Given the description of an element on the screen output the (x, y) to click on. 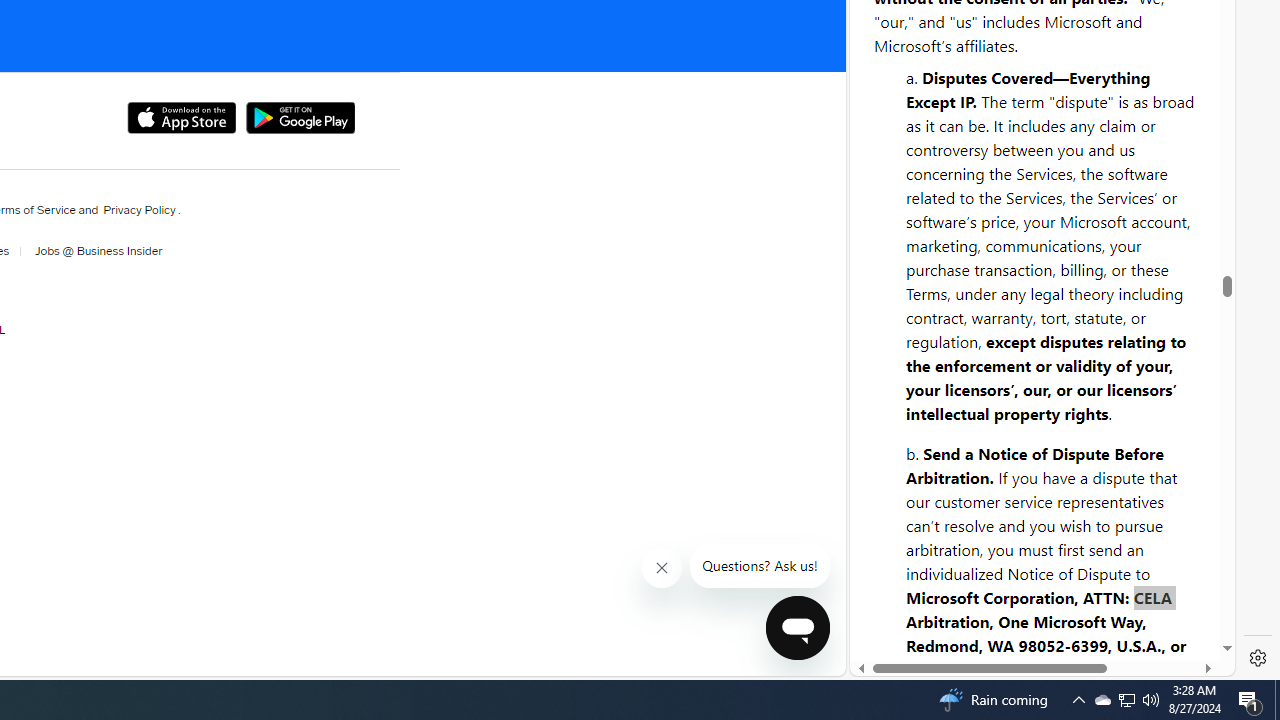
Questions? Ask us! (759, 566)
Get it on Google Play (299, 118)
Class: sc-1k07fow-1 cbnSms (797, 627)
Close message from company (662, 567)
Download on the App Store (180, 118)
Jobs at Business Insider (96, 251)
Class: sc-1uf0igr-1 fjHZYk (662, 568)
